Given the description of an element on the screen output the (x, y) to click on. 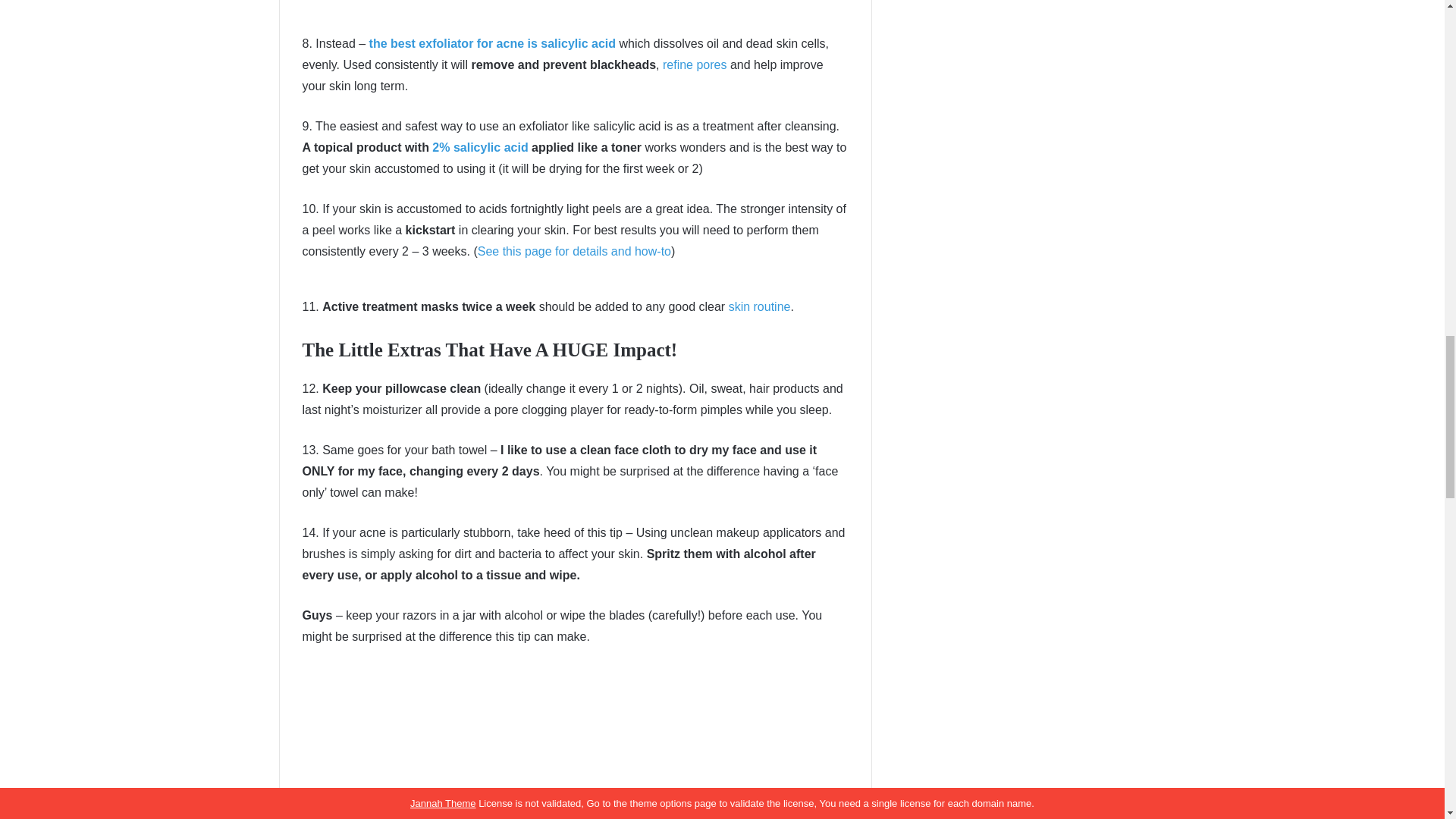
the best exfoliator for acne is salicylic acid (492, 42)
refine pores (694, 64)
See this page for details and how-to (574, 250)
skin routine (759, 306)
